Given the description of an element on the screen output the (x, y) to click on. 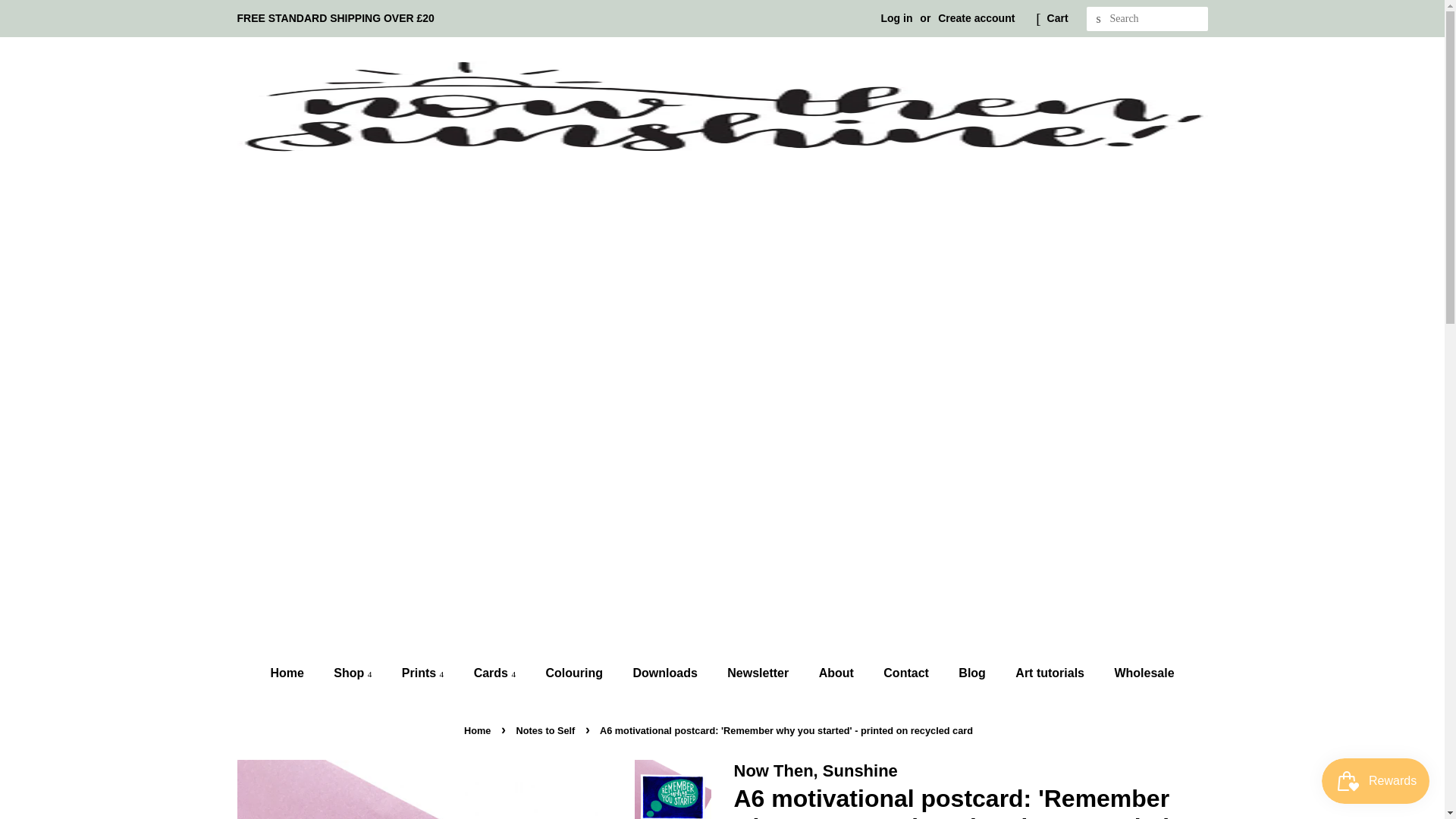
Back to the frontpage (479, 730)
Search (1097, 18)
Log in (896, 18)
Smile.io Rewards Program Launcher (1375, 780)
Cart (1057, 18)
Create account (975, 18)
